Given the description of an element on the screen output the (x, y) to click on. 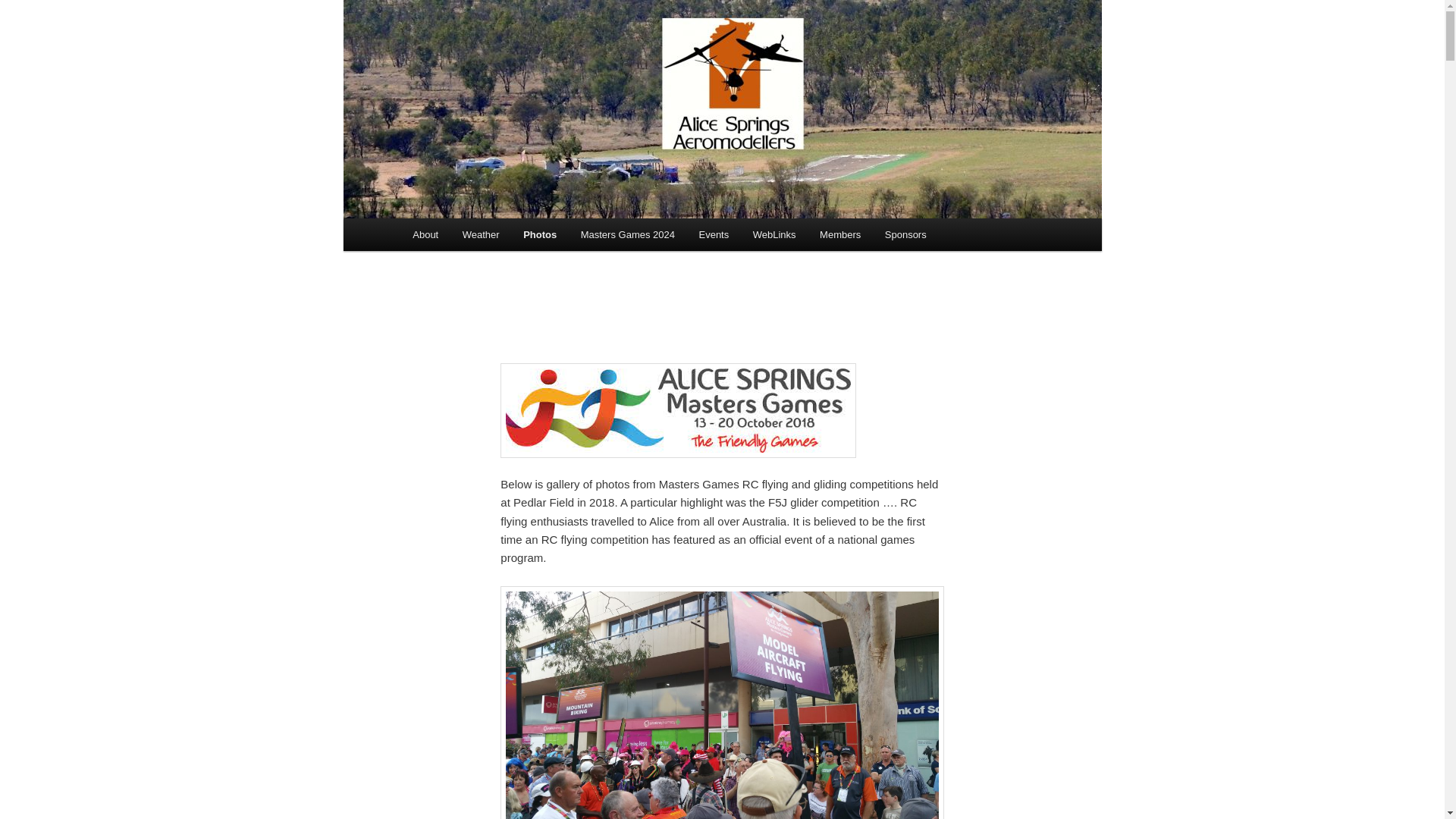
About Element type: text (424, 234)
Masters Games 2024 Element type: text (627, 234)
Members Element type: text (839, 234)
Sponsors Element type: text (905, 234)
Events Element type: text (713, 234)
Skip to primary content Element type: text (0, 0)
WebLinks Element type: text (773, 234)
Alice Springs Aeromodellers Element type: text (555, 54)
Photos Element type: text (539, 234)
Weather Element type: text (480, 234)
